Given the description of an element on the screen output the (x, y) to click on. 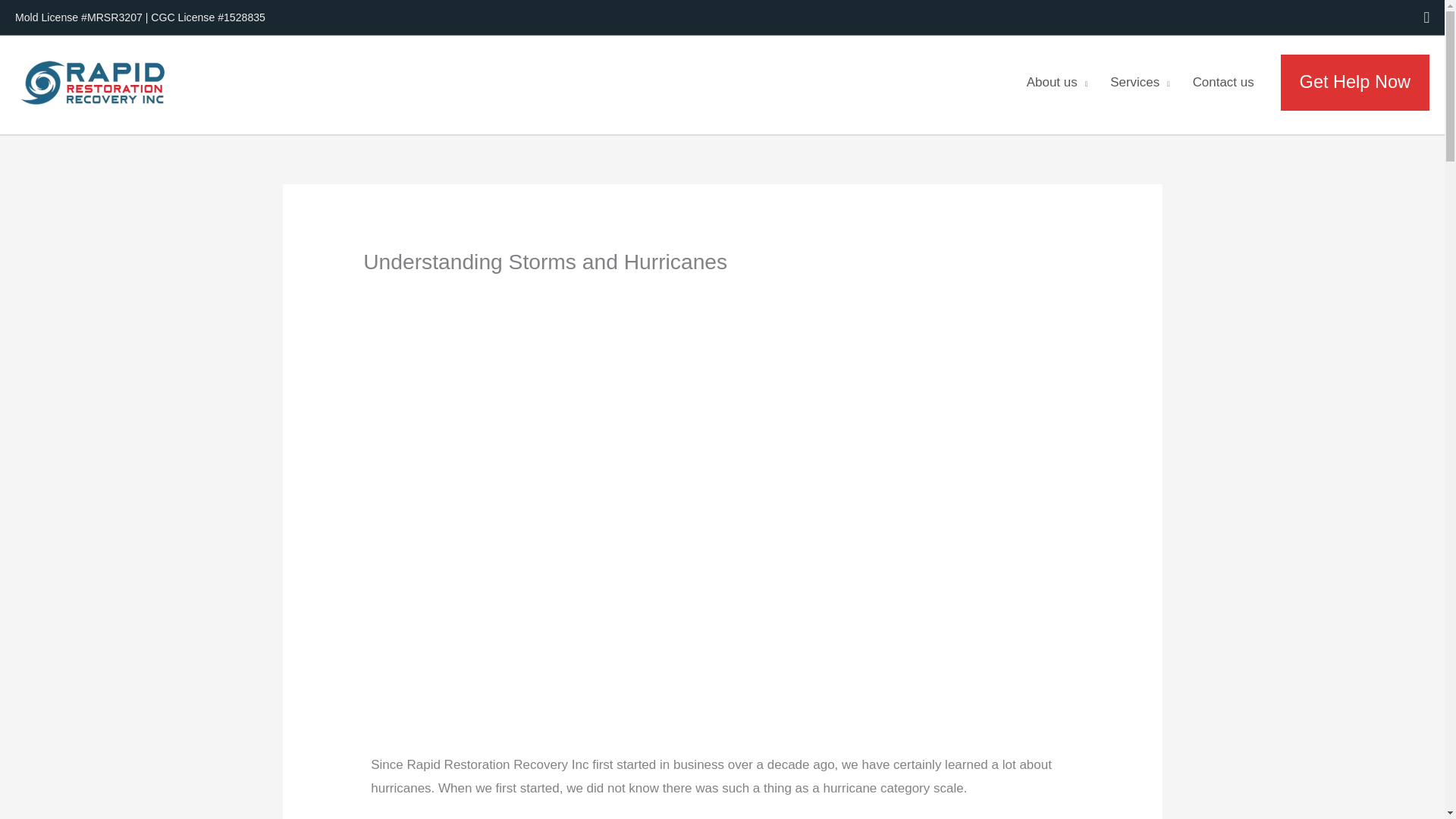
Get Help Now (1355, 82)
About us (1056, 82)
Services (1139, 82)
Contact us (1222, 82)
